Given the description of an element on the screen output the (x, y) to click on. 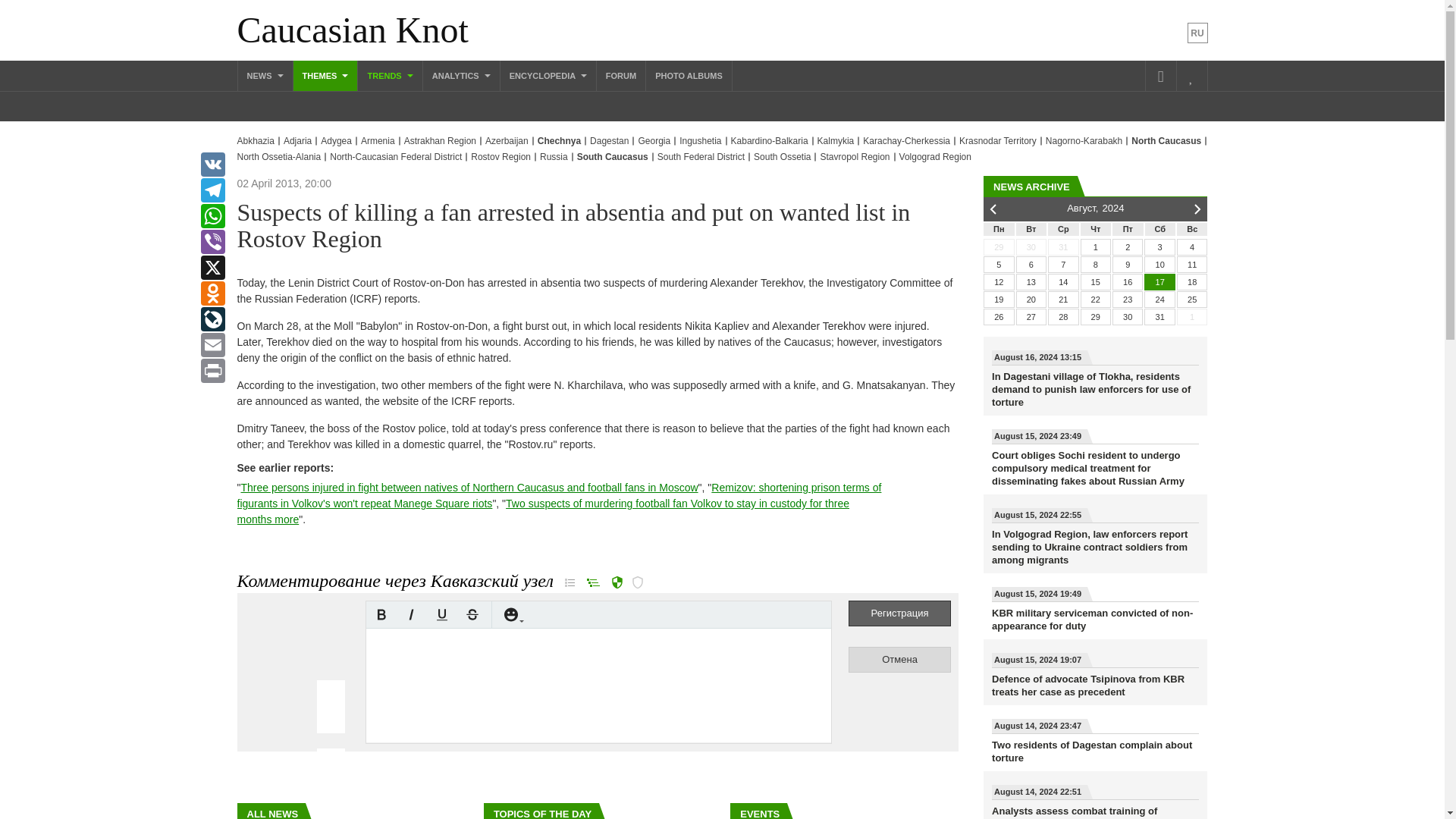
NEWS (265, 75)
THEMES (326, 75)
Toggle on russian version (1198, 32)
TRENDS (390, 75)
RU (1198, 32)
ANALYTICS (461, 75)
ENCYCLOPEDIA (547, 75)
Caucasian Knot (351, 30)
